Given the description of an element on the screen output the (x, y) to click on. 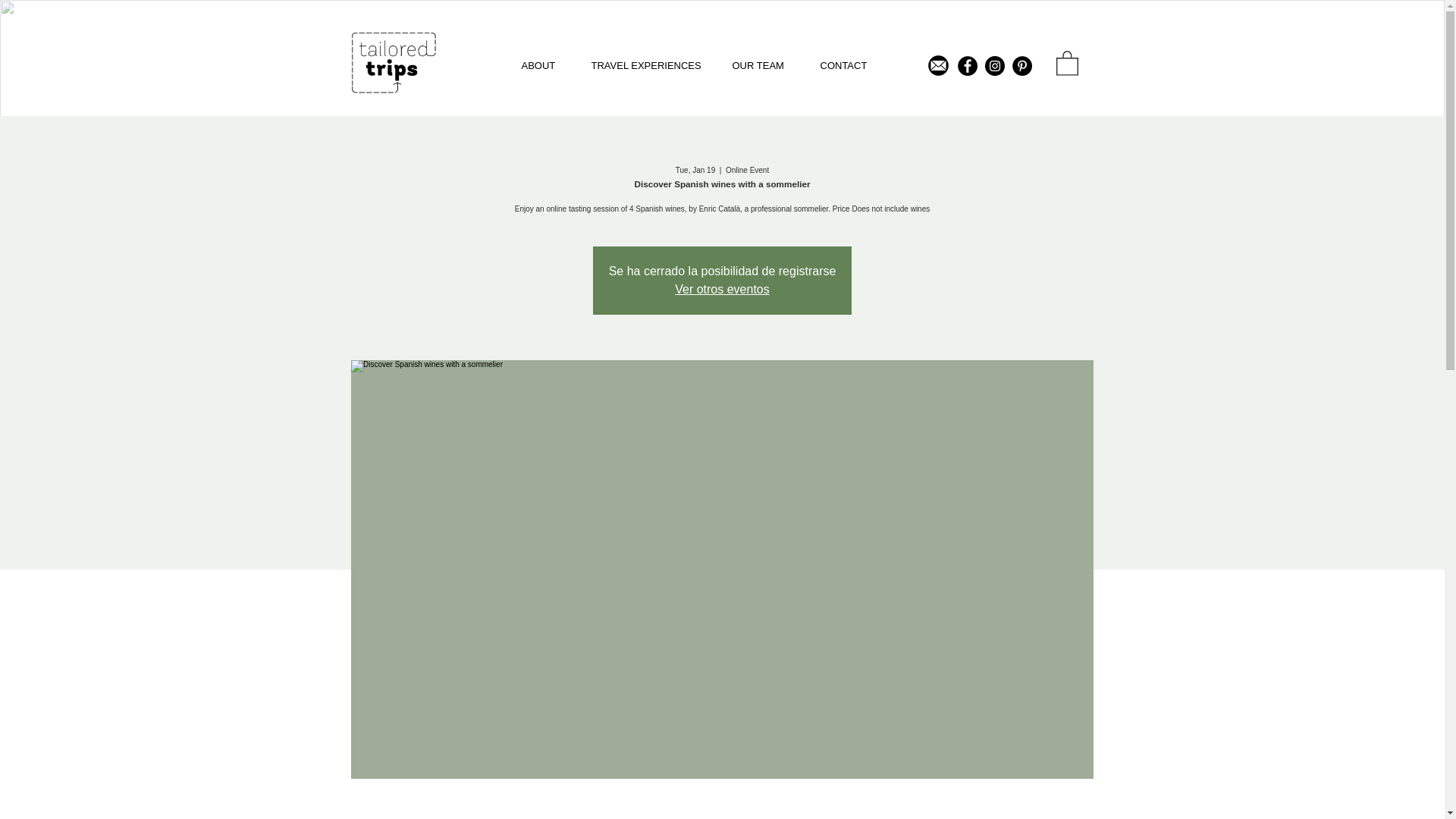
Ver otros eventos (722, 288)
CONTACT (848, 65)
ABOUT (544, 65)
TRAVEL EXPERIENCES (649, 65)
OUR TEAM (764, 65)
